Given the description of an element on the screen output the (x, y) to click on. 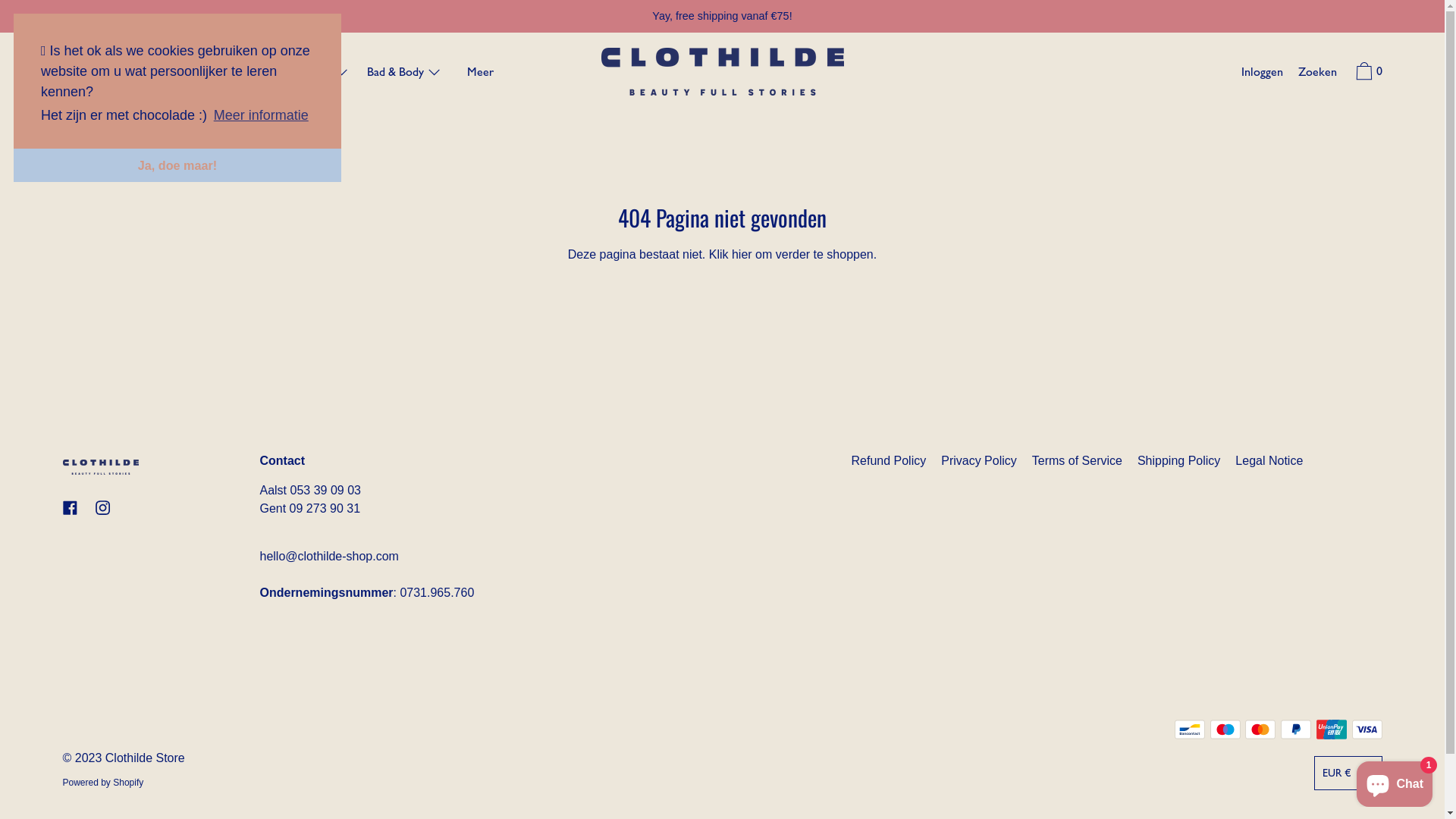
Onlinewinkel-chat van Shopify Element type: hover (1394, 780)
Clothilde Store Element type: text (145, 757)
Refund Policy Element type: text (888, 460)
Instagram Element type: text (102, 507)
Terms of Service Element type: text (1076, 460)
Shipping Policy Element type: text (1178, 460)
0 Element type: text (1366, 73)
Inloggen Element type: text (1261, 73)
Privacy Policy Element type: text (978, 460)
Haar Element type: text (327, 73)
Gezicht Element type: text (181, 73)
Facebook Element type: text (69, 507)
Meer Element type: text (479, 73)
Behandelingen Element type: text (97, 73)
Make-up Element type: text (258, 73)
hier Element type: text (741, 253)
Legal Notice Element type: text (1268, 460)
Zoeken Element type: text (1317, 73)
Bad & Body Element type: text (403, 73)
